Given the description of an element on the screen output the (x, y) to click on. 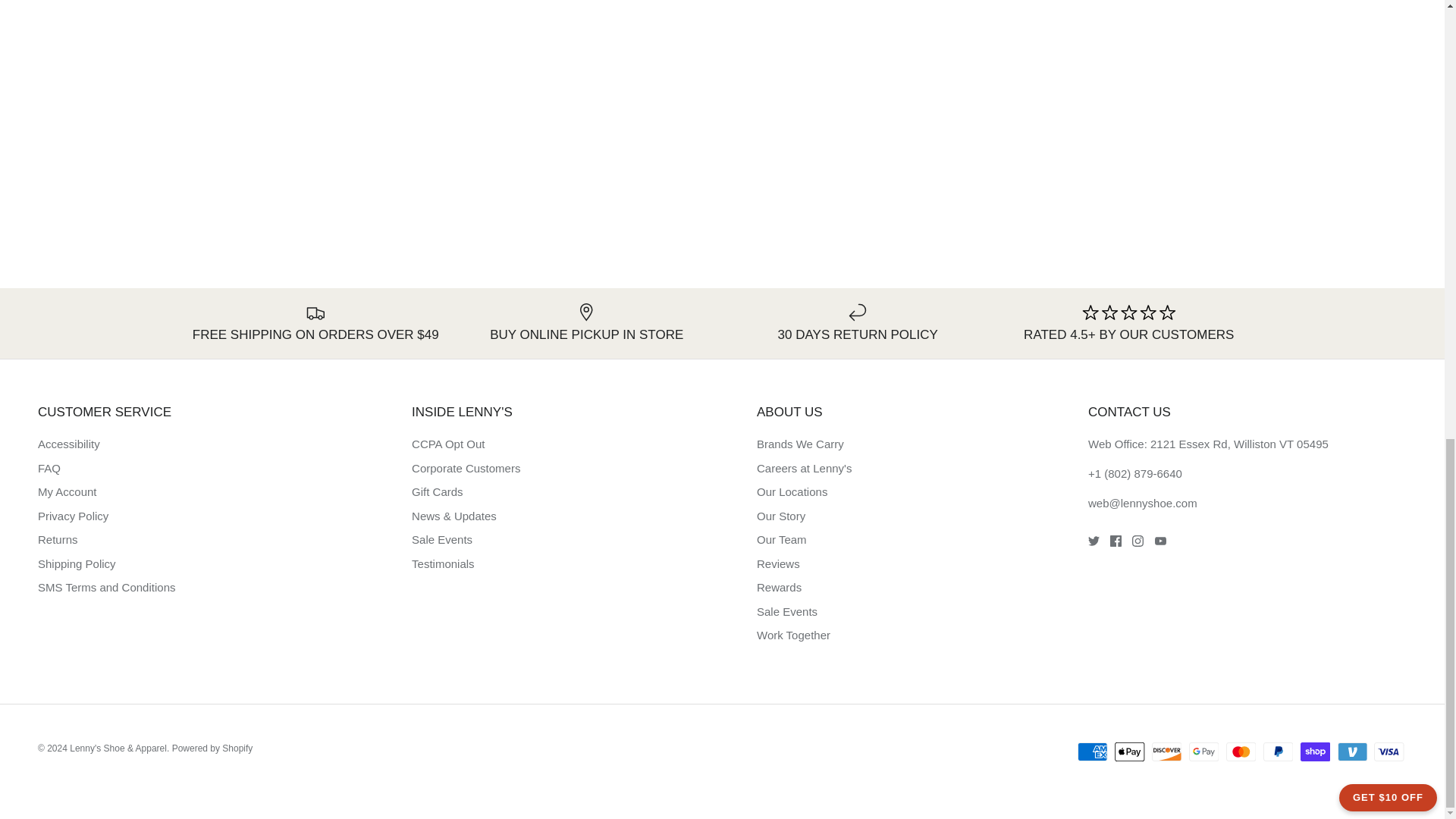
Visa (1388, 751)
Shop Pay (1315, 751)
PayPal (1277, 751)
Google Pay (1203, 751)
Twitter (1093, 541)
Mastercard (1240, 751)
American Express (1092, 751)
Venmo (1352, 751)
Youtube (1160, 541)
Facebook (1115, 541)
